Given the description of an element on the screen output the (x, y) to click on. 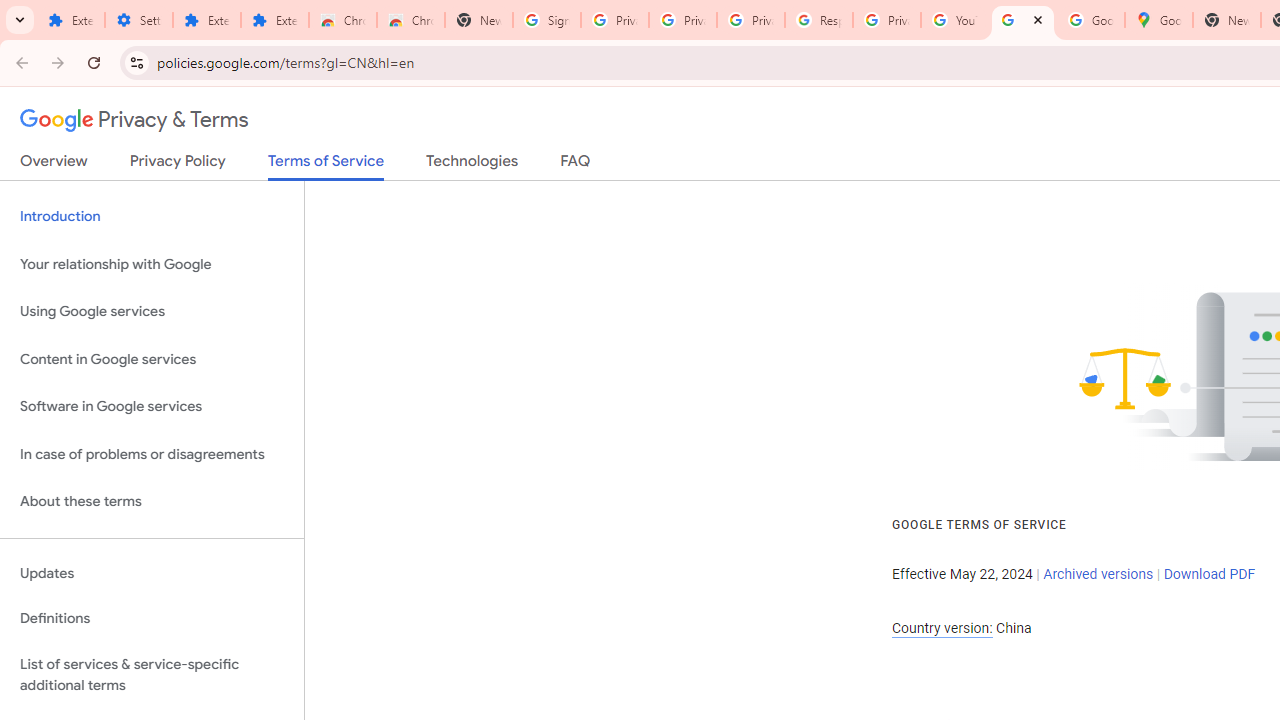
Extensions (206, 20)
Archived versions (1098, 574)
Chrome Web Store - Themes (411, 20)
About these terms (152, 502)
Settings (138, 20)
List of services & service-specific additional terms (152, 674)
Chrome Web Store (342, 20)
Your relationship with Google (152, 263)
Using Google services (152, 312)
Country version: (942, 628)
In case of problems or disagreements (152, 453)
